Given the description of an element on the screen output the (x, y) to click on. 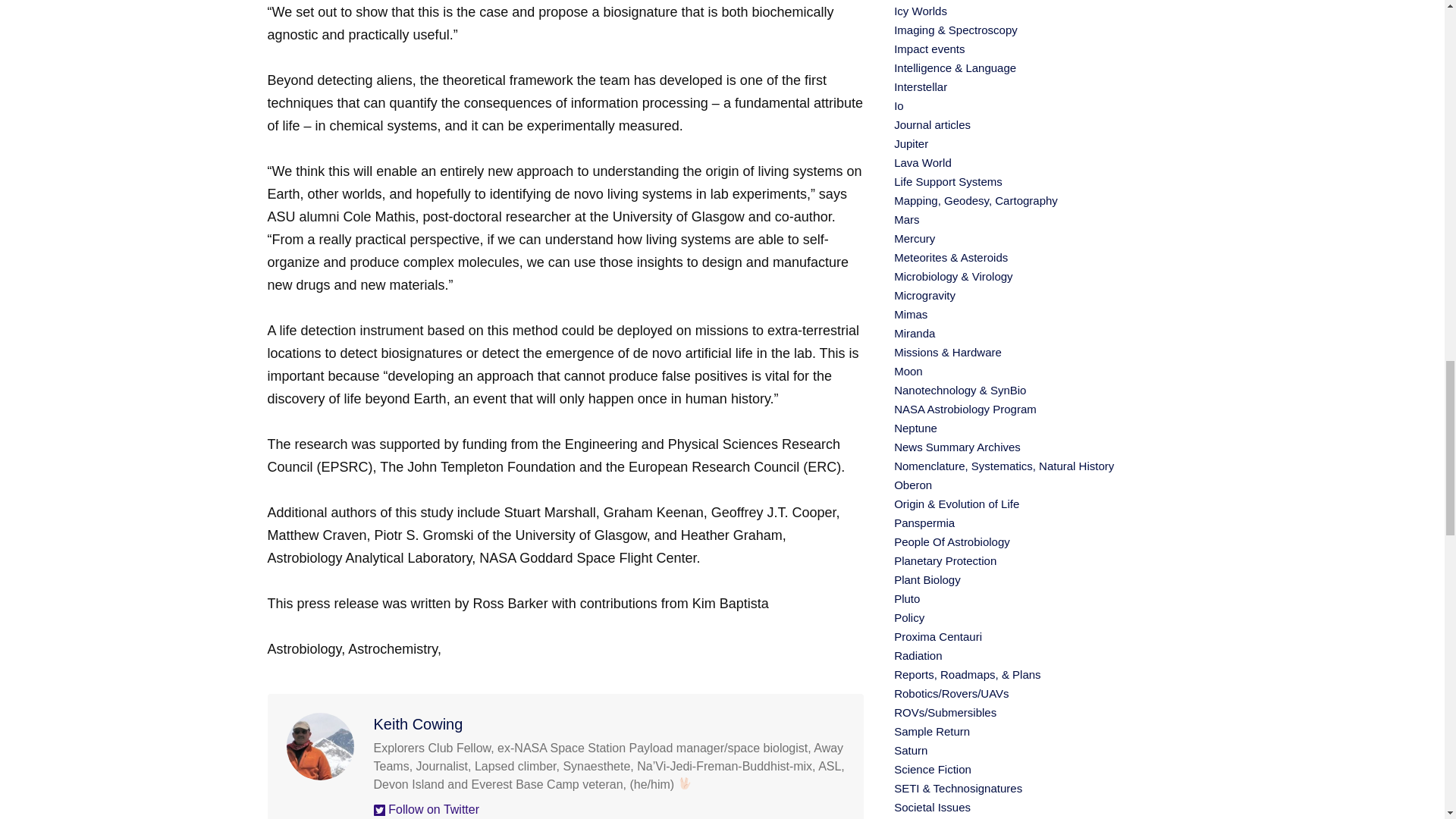
Keith Cowing (417, 723)
Follow on Twitter (425, 809)
